Given the description of an element on the screen output the (x, y) to click on. 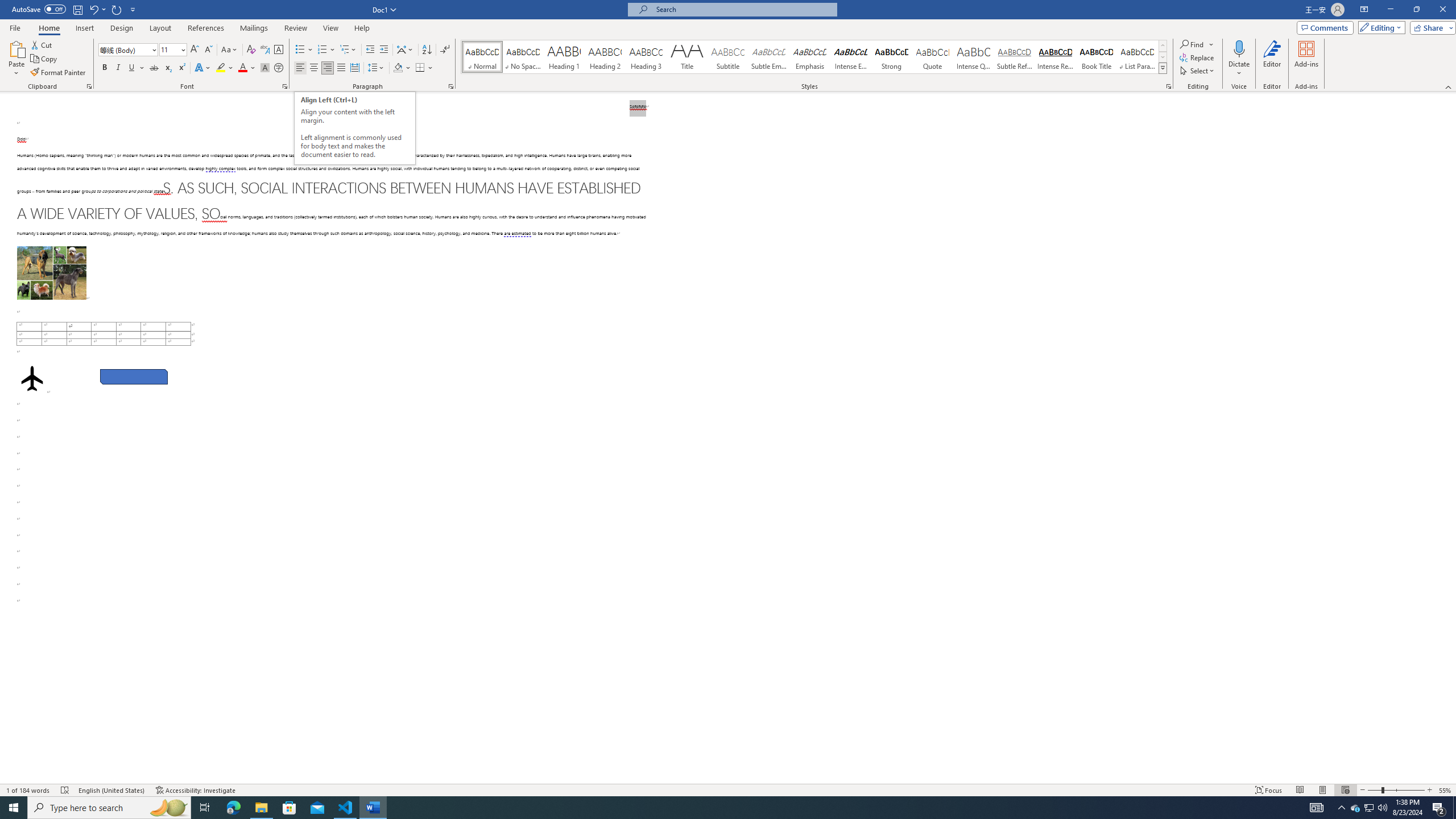
Undo Paragraph Alignment (92, 9)
